Given the description of an element on the screen output the (x, y) to click on. 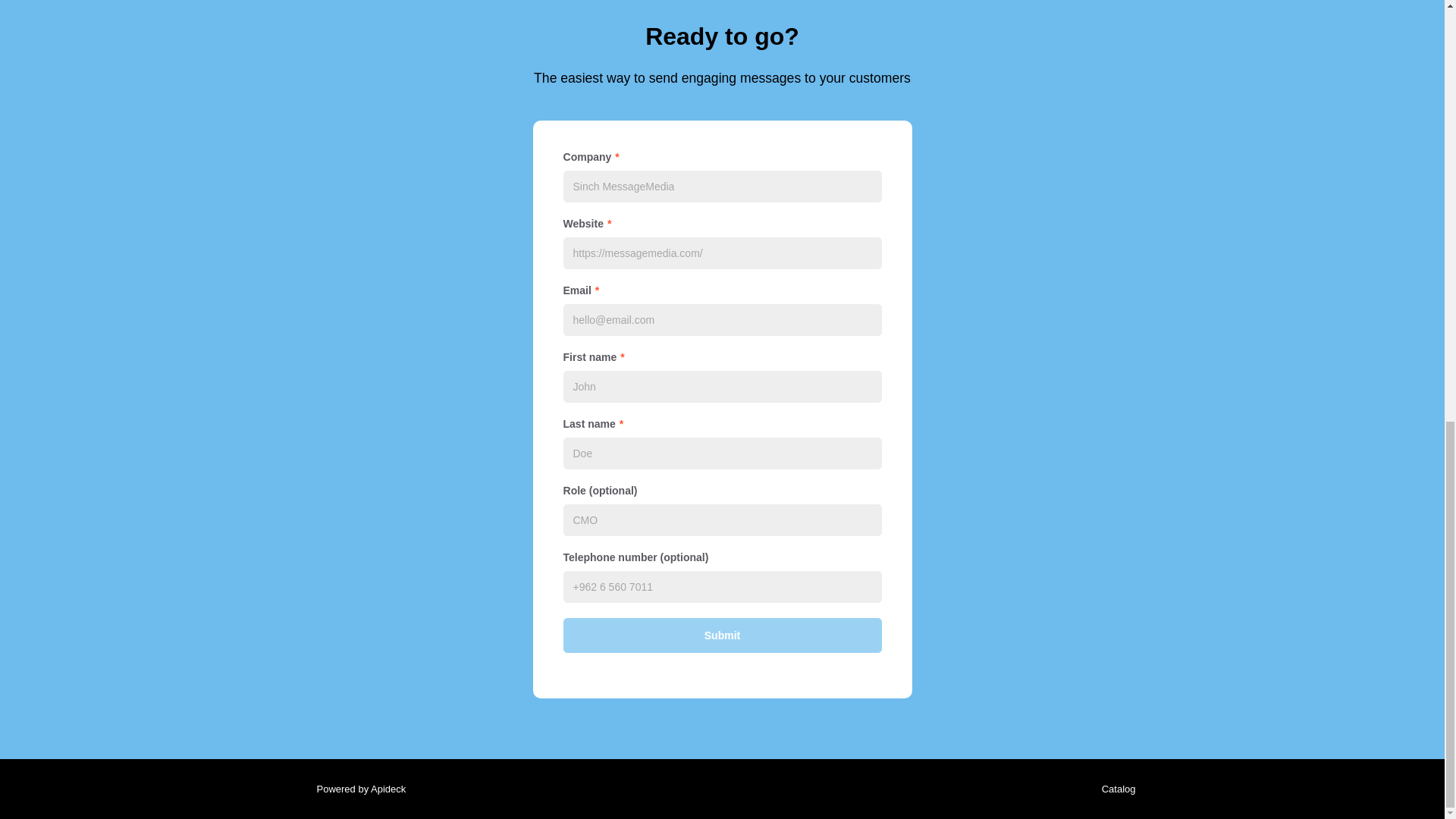
Submit (721, 635)
Catalog (1115, 789)
Powered by Apideck (356, 789)
